Given the description of an element on the screen output the (x, y) to click on. 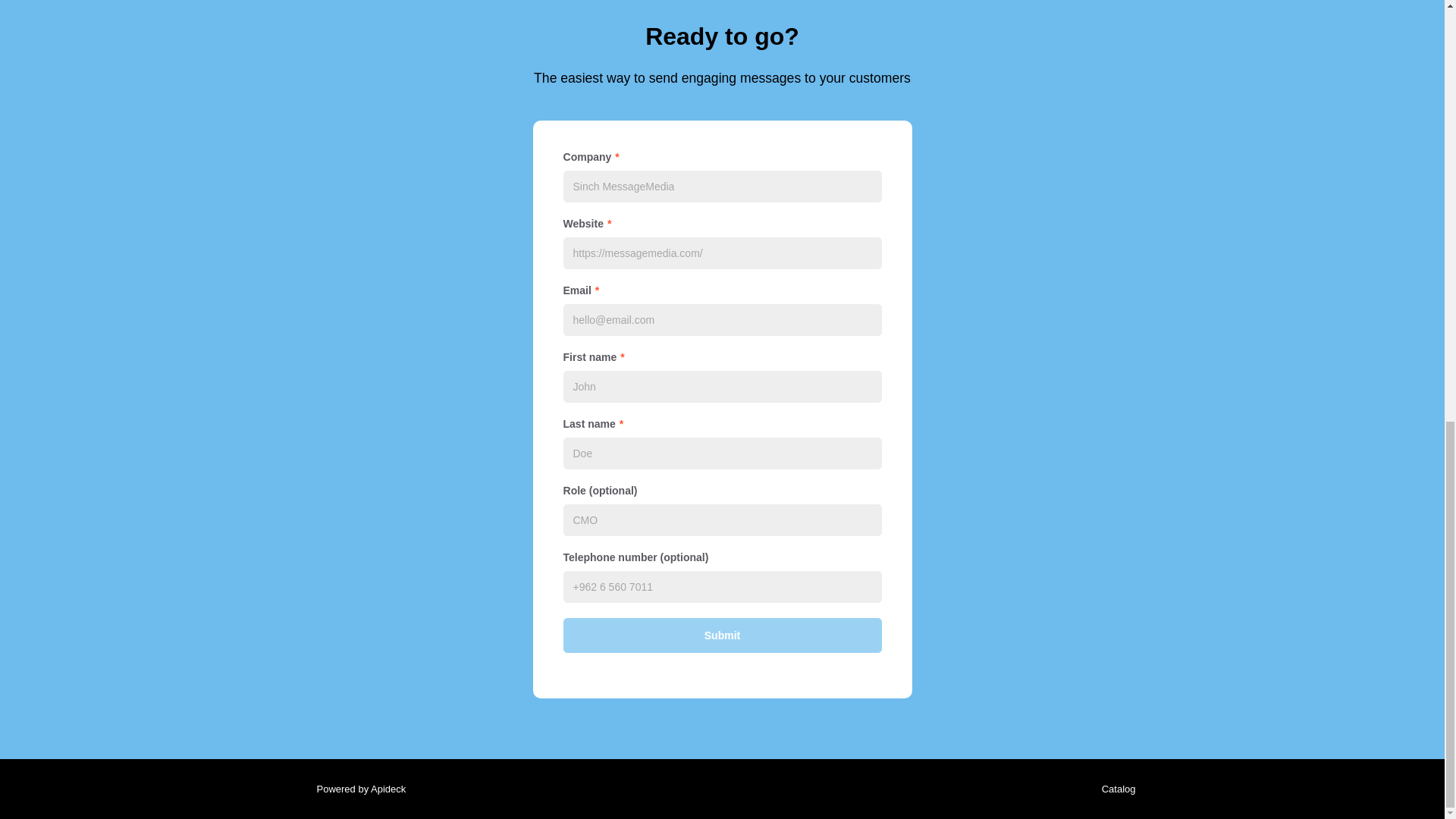
Submit (721, 635)
Catalog (1115, 789)
Powered by Apideck (356, 789)
